Given the description of an element on the screen output the (x, y) to click on. 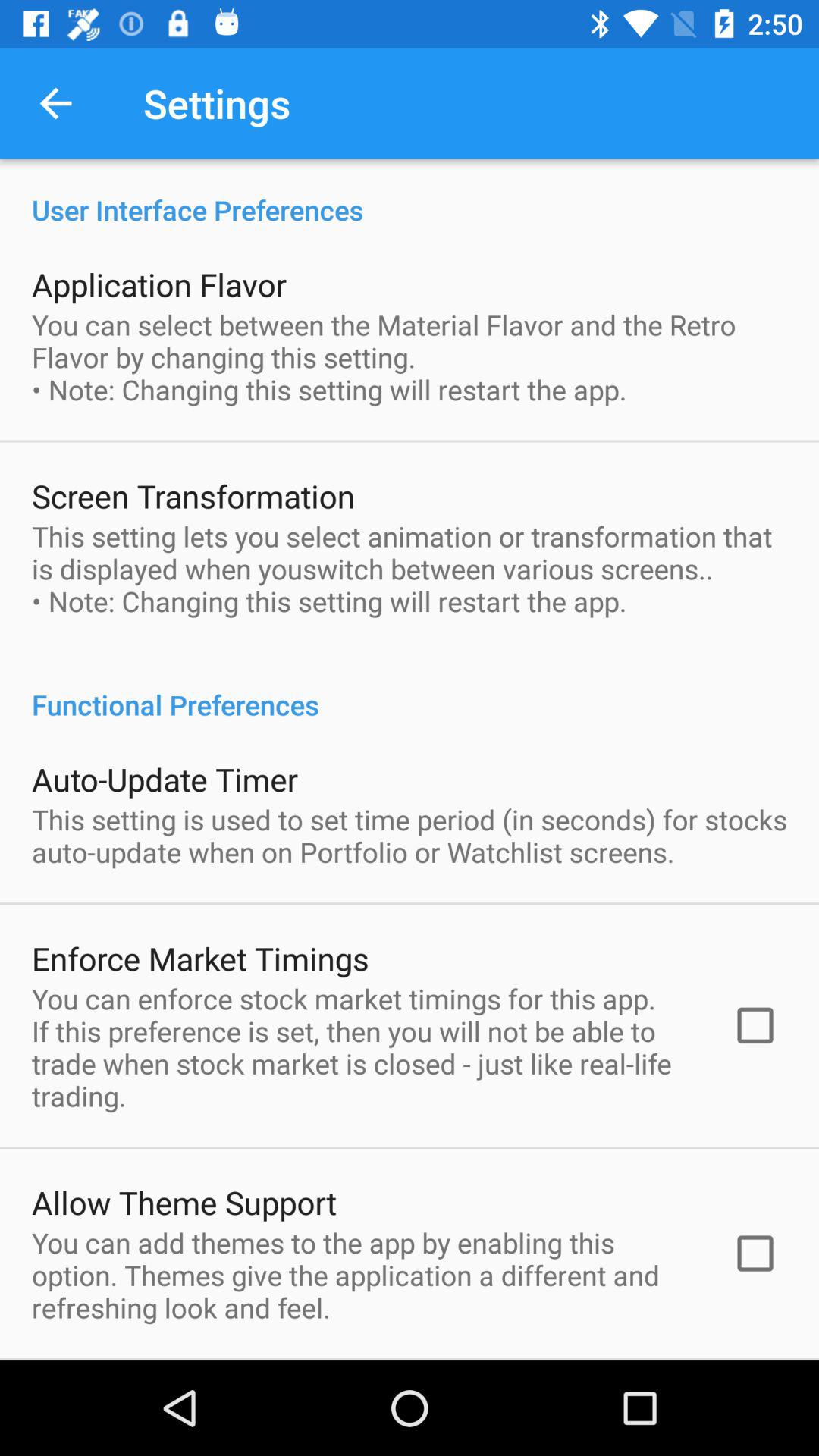
launch the icon above the you can select item (158, 283)
